Given the description of an element on the screen output the (x, y) to click on. 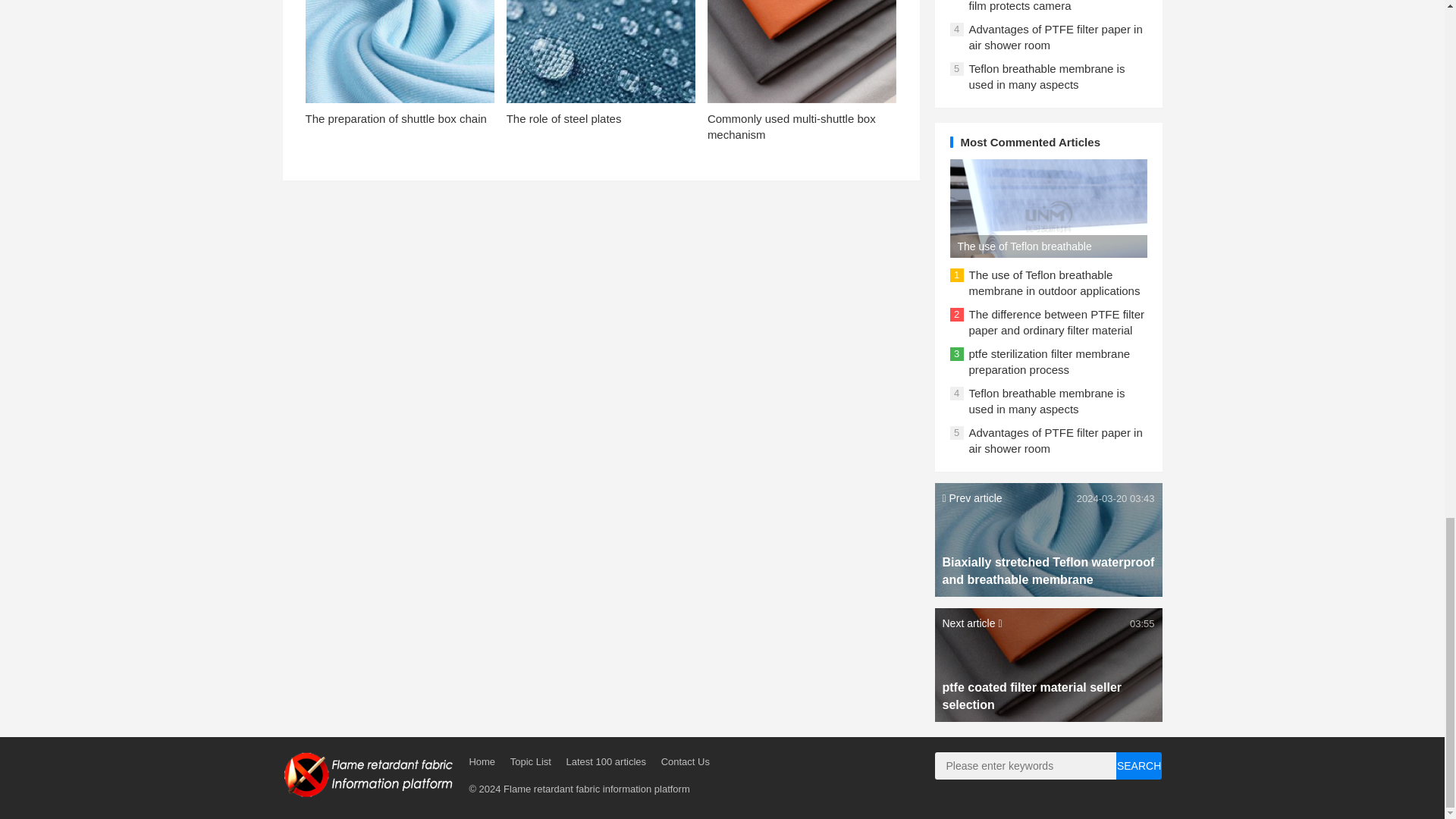
Commonly used multi-shuttle box mechanism (791, 126)
The preparation of shuttle box chain (395, 118)
The role of steel plates (563, 118)
